Given the description of an element on the screen output the (x, y) to click on. 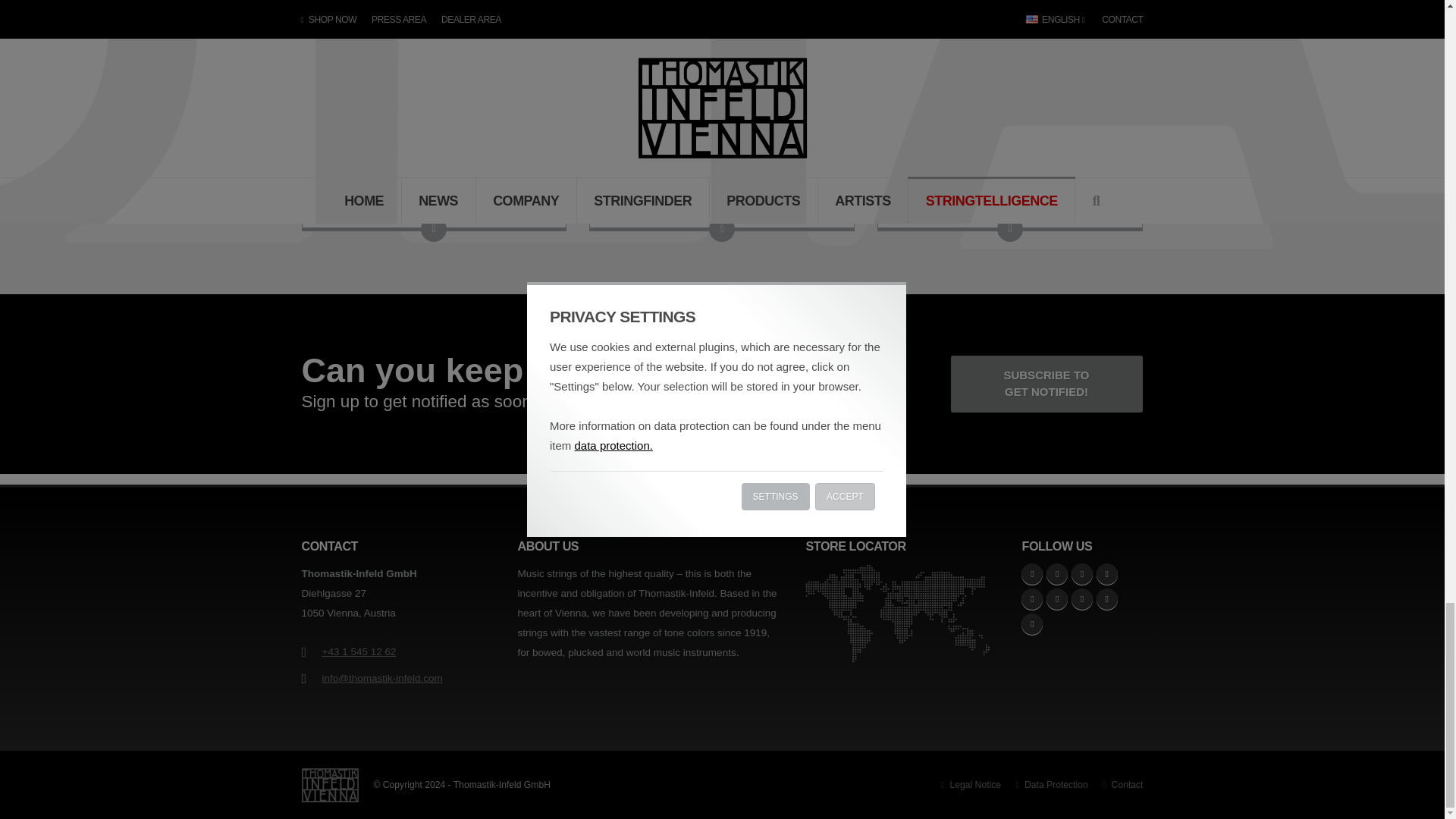
Pinterest (1107, 598)
Store Locator (903, 612)
MORE INFO (433, 153)
TikTok (1082, 573)
Twitter (1032, 598)
MORE INFO (722, 228)
Linkedin (1056, 598)
Xing (1082, 598)
MORE INFO (721, 153)
MORE INFO (1009, 153)
Facebook (1032, 573)
YouTube (1107, 573)
Instagram (1056, 573)
MORE INFO (433, 228)
MORE INFO (1010, 228)
